Given the description of an element on the screen output the (x, y) to click on. 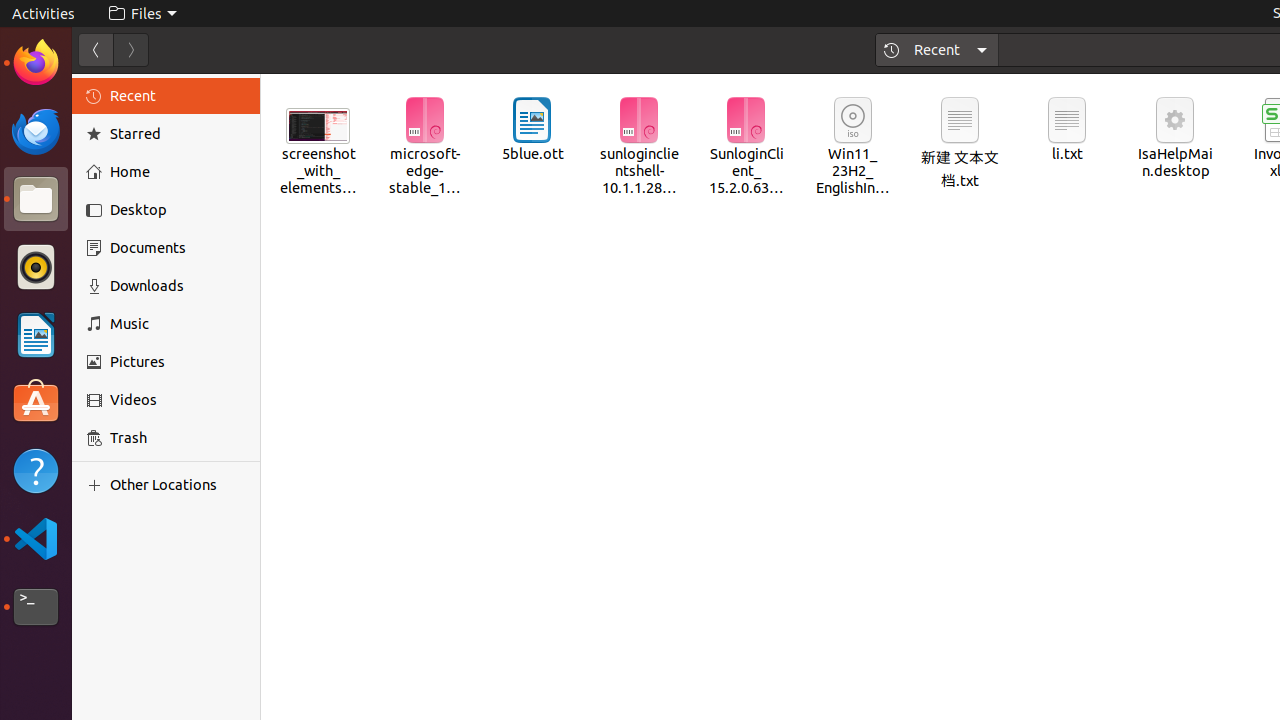
SunloginClient_15.2.0.63064_amd64.deb Element type: canvas (746, 147)
Videos Element type: label (178, 400)
Add Element type: icon (98, 485)
